Given the description of an element on the screen output the (x, y) to click on. 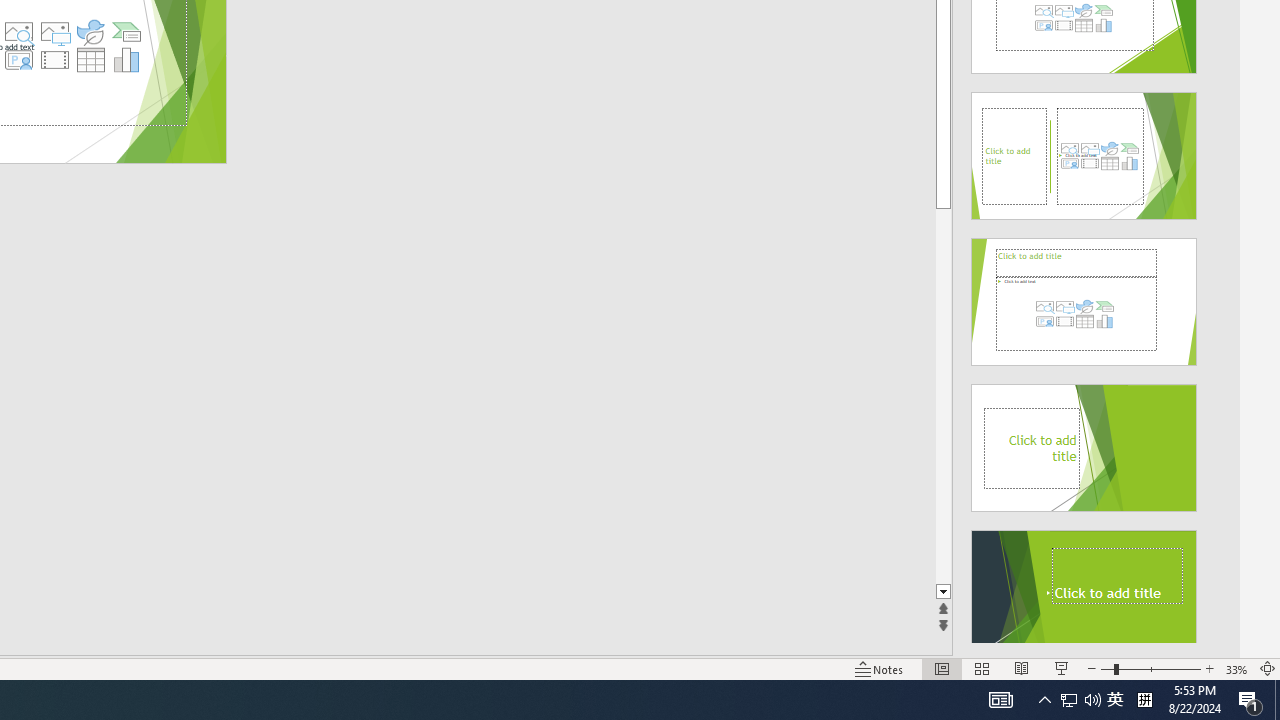
Insert an Icon (91, 32)
Zoom 33% (1236, 668)
Stock Images (18, 32)
Insert Chart (127, 60)
Insert a SmartArt Graphic (127, 32)
Pictures (54, 32)
